Given the description of an element on the screen output the (x, y) to click on. 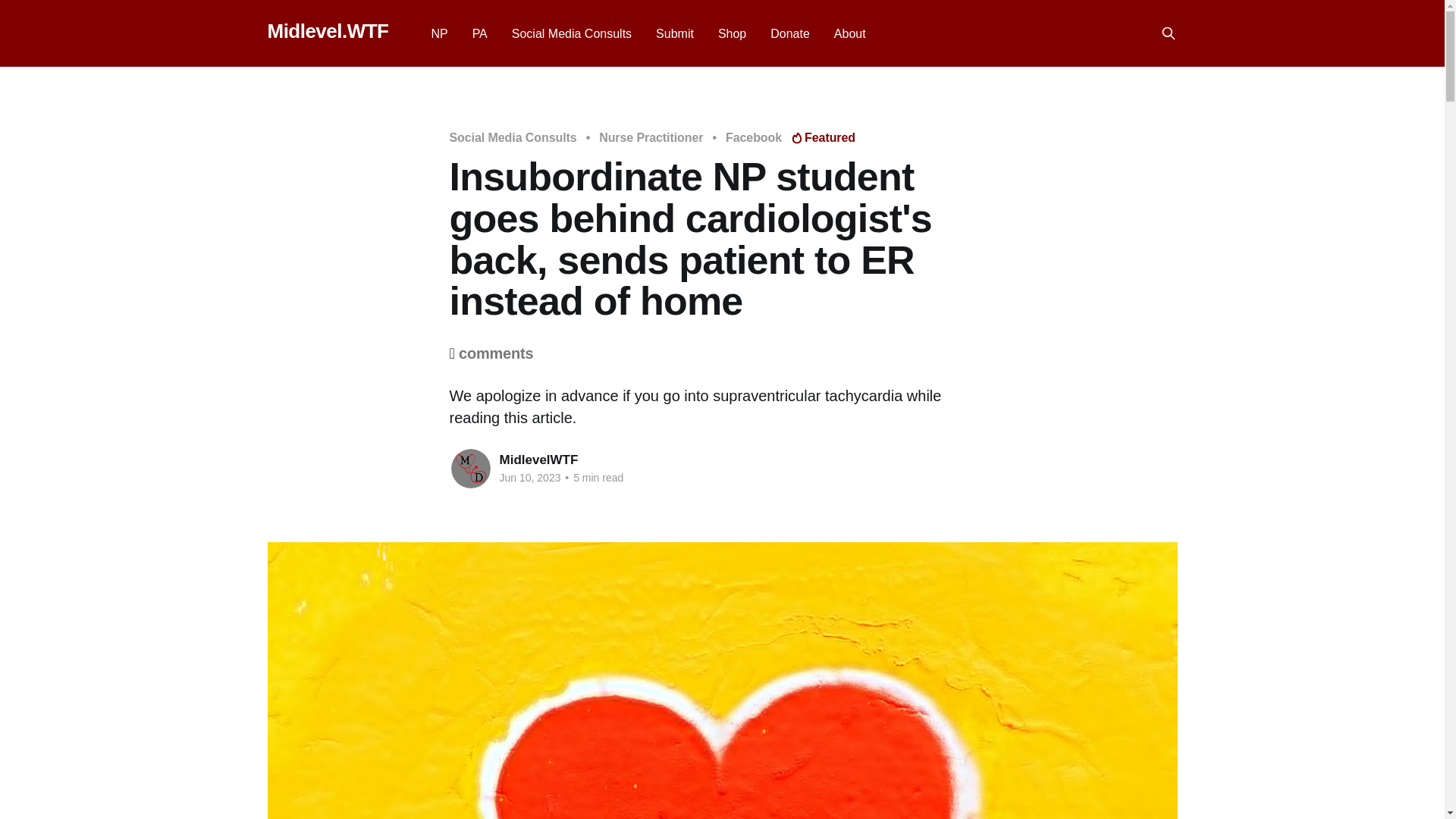
Social Media Consults (512, 137)
Social Media Consults (571, 33)
Donate (789, 33)
Midlevel.WTF (327, 31)
Facebook (753, 137)
MidlevelWTF (538, 459)
comments (495, 352)
About (850, 33)
Submit (675, 33)
Nurse Practitioner (650, 137)
Shop (731, 33)
